Given the description of an element on the screen output the (x, y) to click on. 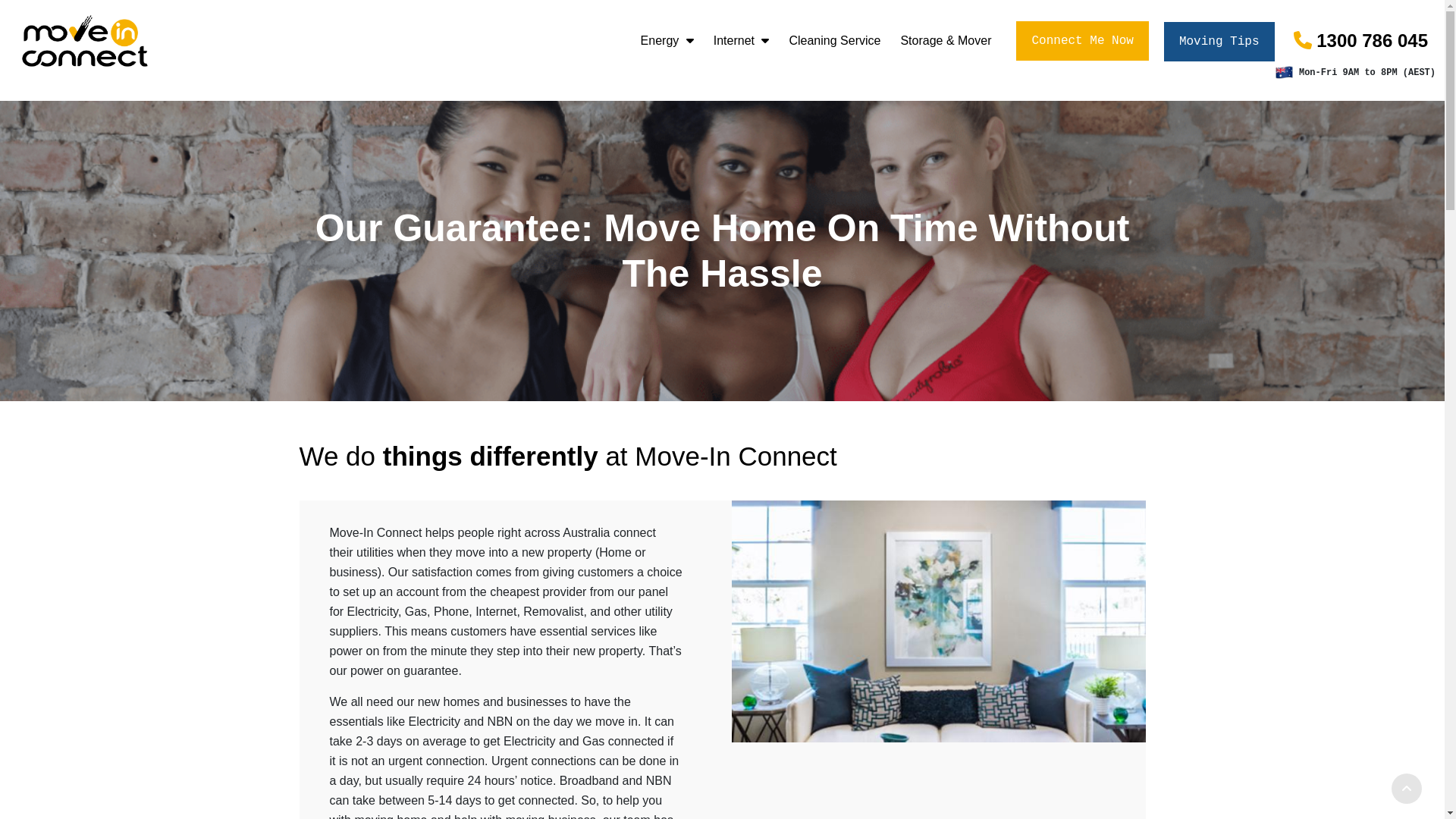
Internet Element type: text (741, 40)
Cleaning Service Element type: text (834, 40)
Moving Tips Element type: text (1219, 41)
Energy Element type: text (666, 40)
Storage & Mover Element type: text (945, 40)
1300 786 045 Element type: text (1360, 40)
Connect Me Now Element type: text (1082, 40)
